Given the description of an element on the screen output the (x, y) to click on. 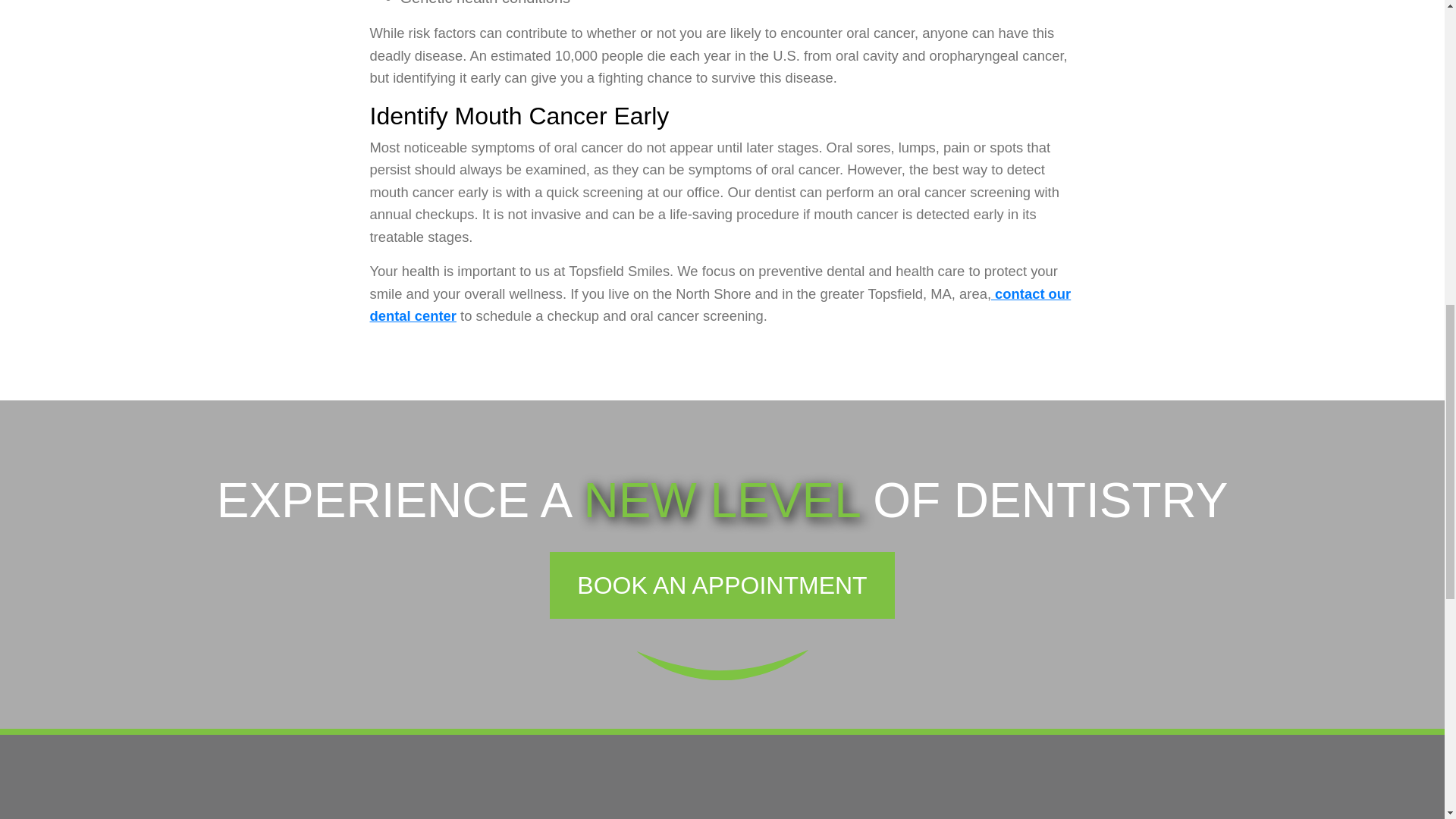
BOOK AN APPOINTMENT (721, 585)
contact our dental center (720, 304)
Contact Topsfield Smiles in Topsfield MA (720, 304)
